Given the description of an element on the screen output the (x, y) to click on. 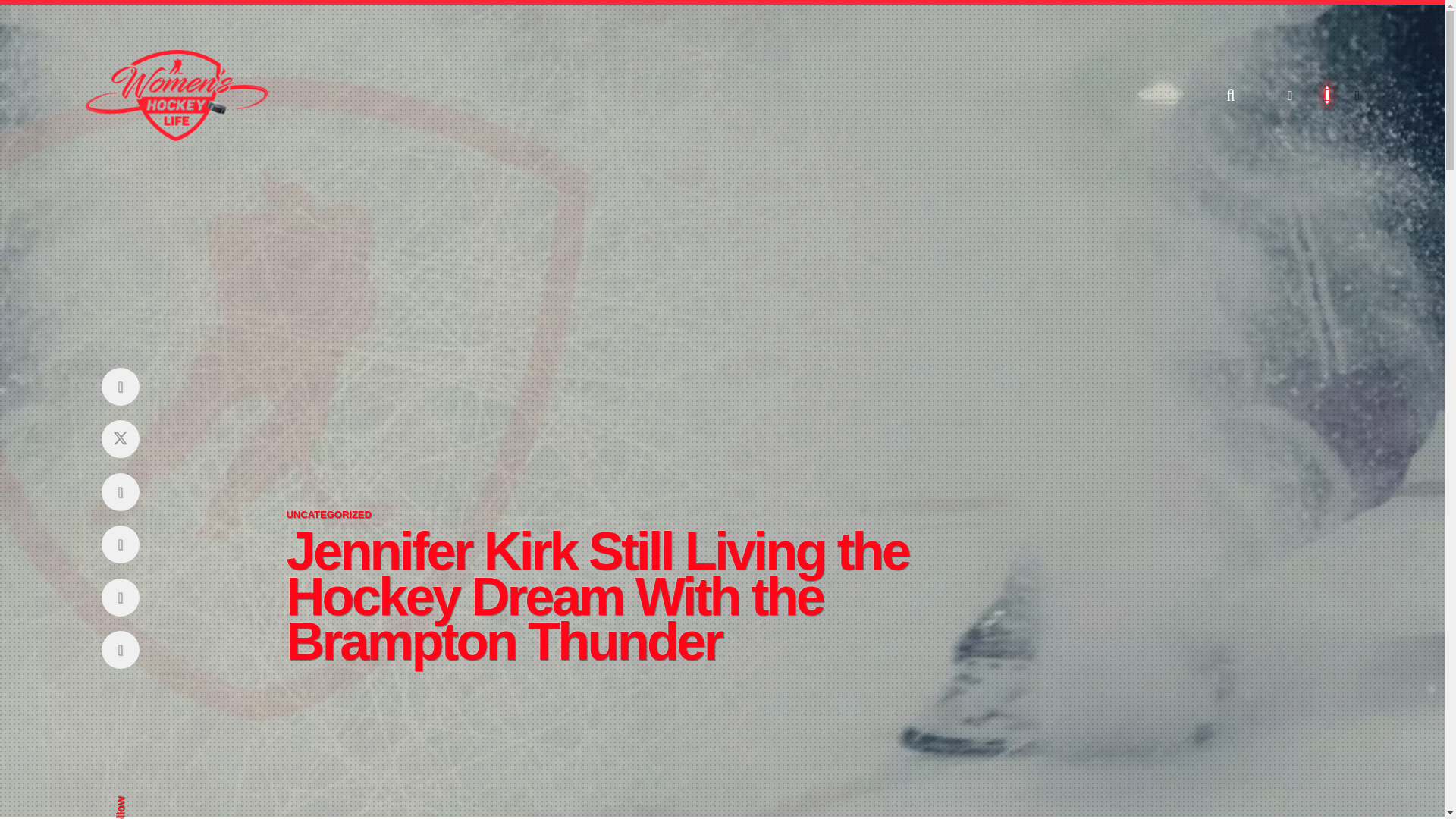
Instagram (119, 491)
UNCATEGORIZED (328, 513)
Facebook (119, 385)
Twitter (119, 438)
YouTube (119, 543)
TikTok (119, 650)
LinkedIn (119, 596)
